Given the description of an element on the screen output the (x, y) to click on. 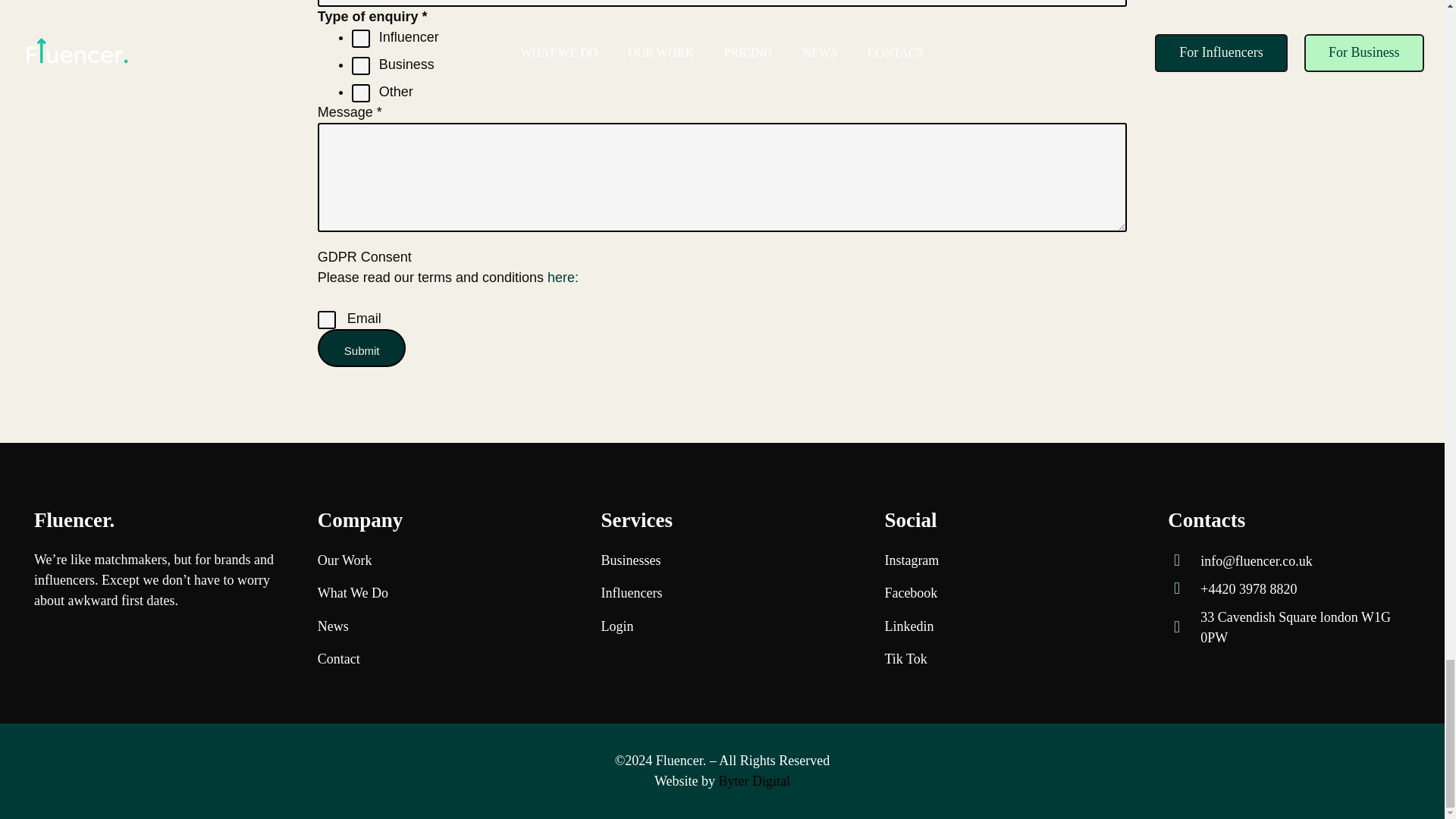
Tik Tok (904, 658)
Submit (361, 347)
Other (360, 93)
Byter Digital (754, 780)
Submit (361, 347)
Linkedin (908, 626)
Fluencer. (681, 760)
Contact (338, 658)
Businesses (631, 560)
What We Do (352, 592)
Facebook (910, 592)
Business (360, 65)
Influencer (360, 38)
Influencers (631, 592)
Y (326, 320)
